Given the description of an element on the screen output the (x, y) to click on. 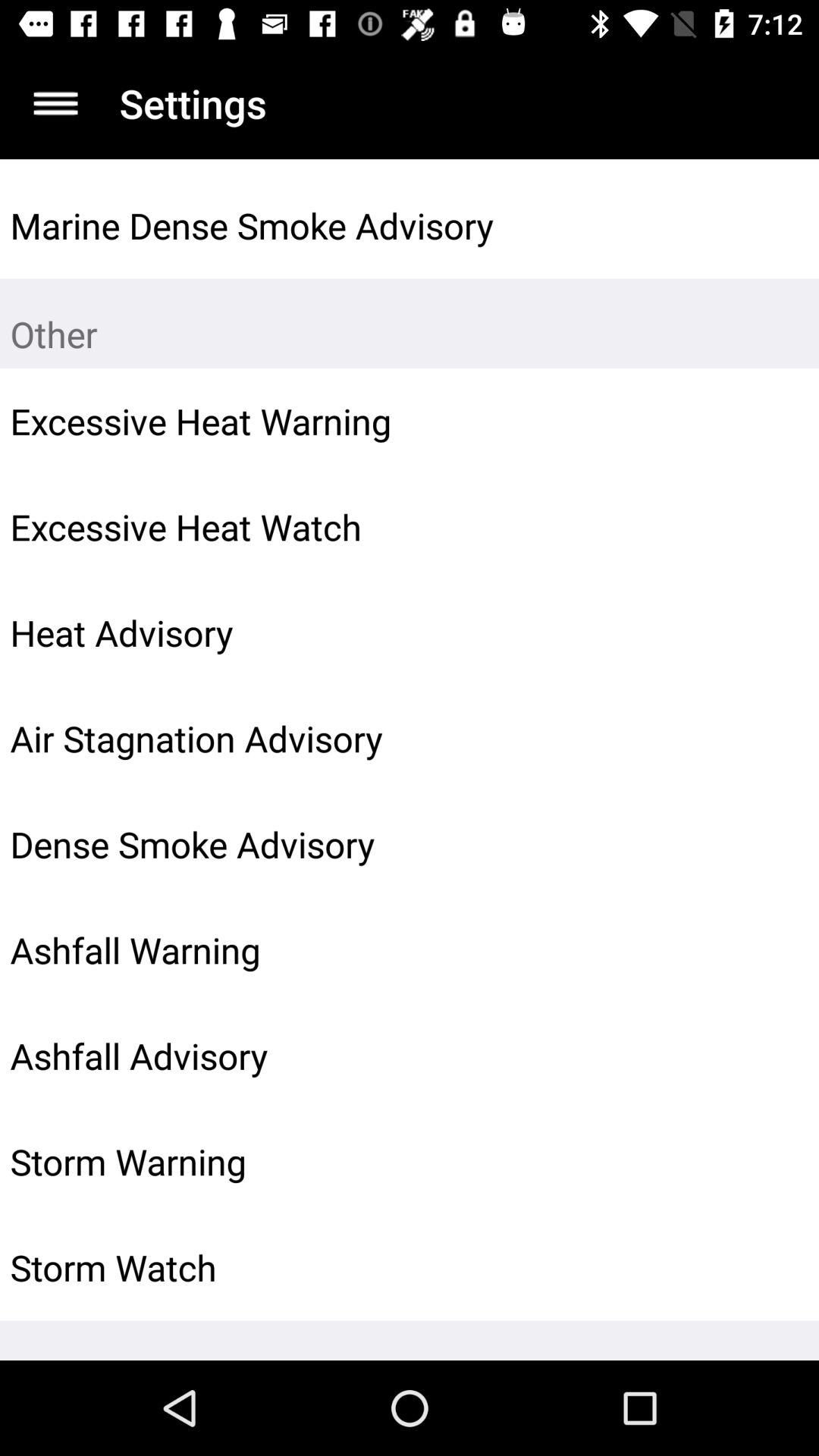
choose the icon to the right of the heat advisory icon (771, 632)
